Given the description of an element on the screen output the (x, y) to click on. 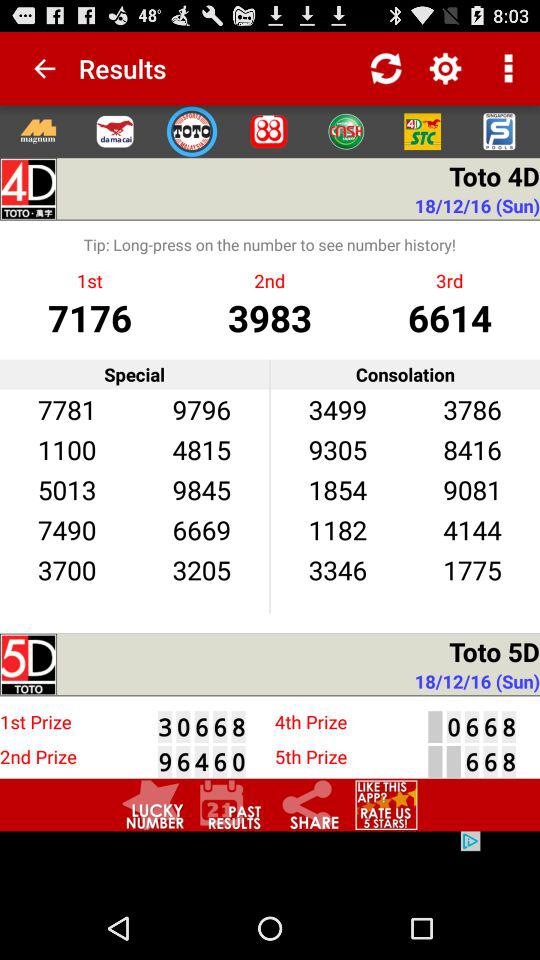
go to lucky number (153, 804)
